Given the description of an element on the screen output the (x, y) to click on. 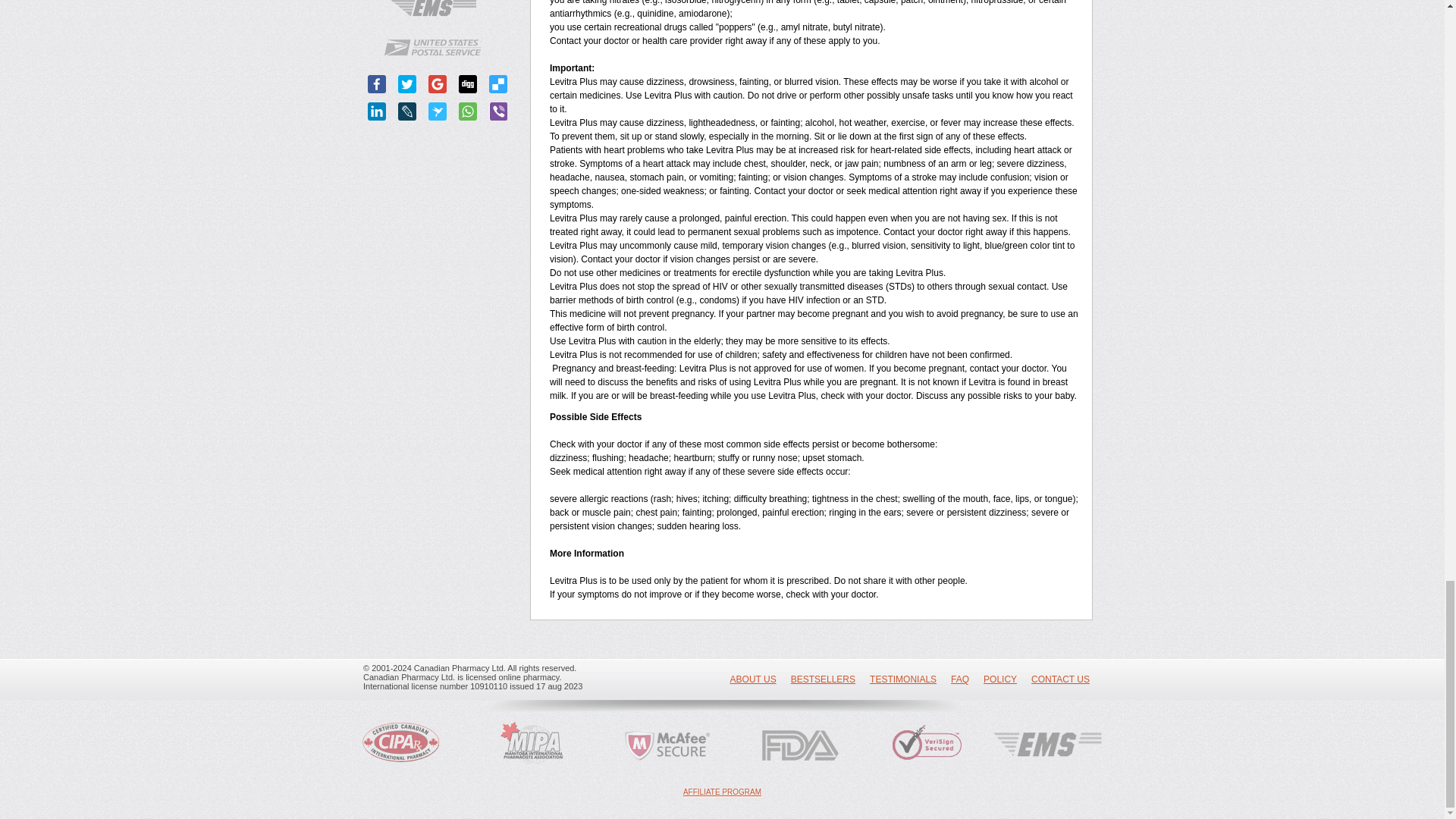
Digg (467, 84)
Twitter (406, 84)
Facebook (376, 84)
Whatsapp (467, 111)
Delicious (497, 84)
LinkedIn (376, 111)
Livejournal (406, 111)
Surfingbird (437, 111)
Viber (497, 111)
